Given the description of an element on the screen output the (x, y) to click on. 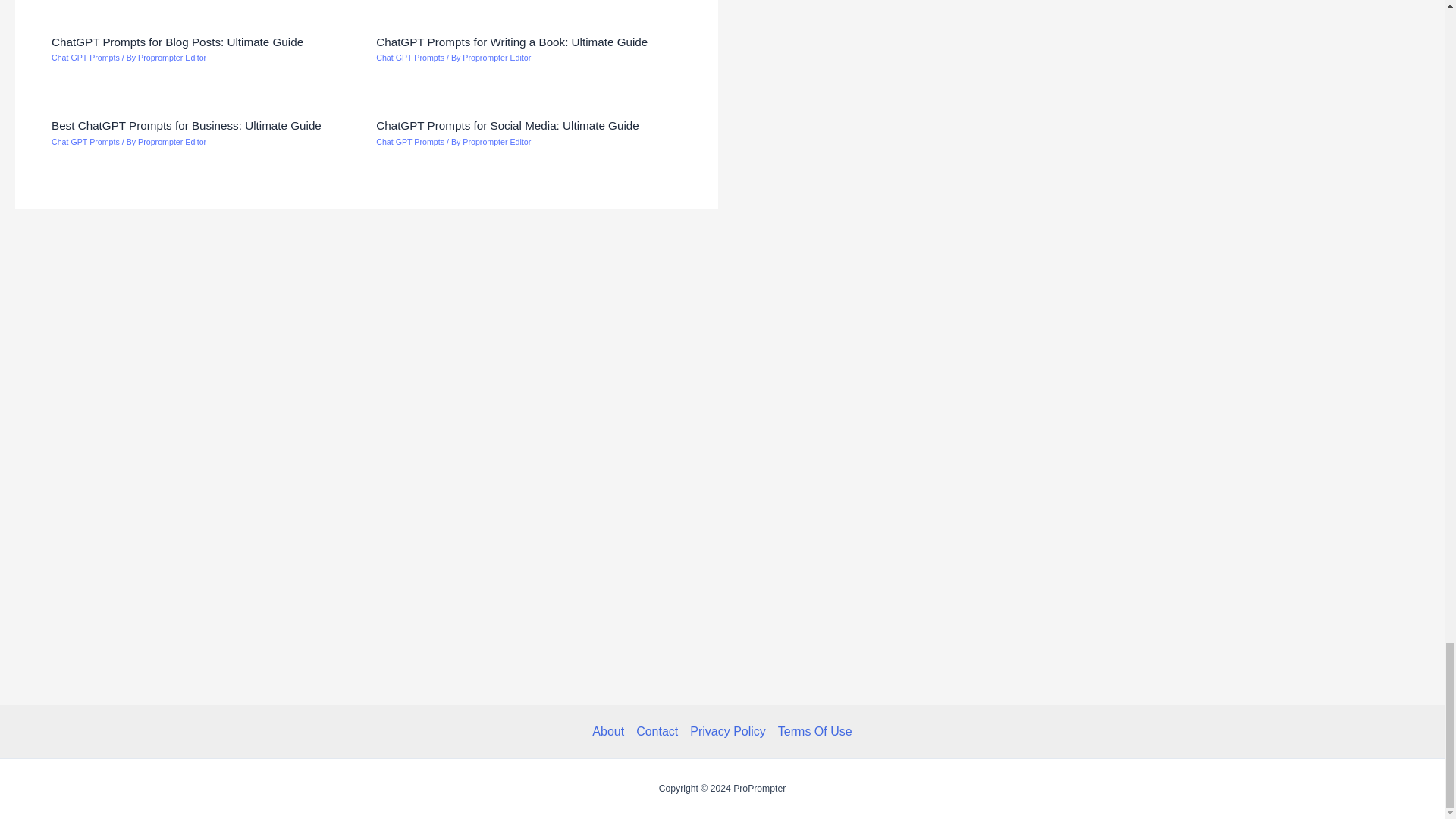
View all posts by Proprompter Editor (172, 57)
ChatGPT Prompts for Blog Posts: Ultimate Guide (176, 42)
Chat GPT Prompts (84, 57)
View all posts by Proprompter Editor (497, 57)
Best ChatGPT Prompts for Business: Ultimate Guide (185, 124)
ChatGPT Prompts for Writing a Book: Ultimate Guide (511, 42)
View all posts by Proprompter Editor (172, 141)
Proprompter Editor (172, 57)
Proprompter Editor (497, 57)
Chat GPT Prompts (84, 141)
View all posts by Proprompter Editor (497, 141)
Chat GPT Prompts (409, 57)
